Given the description of an element on the screen output the (x, y) to click on. 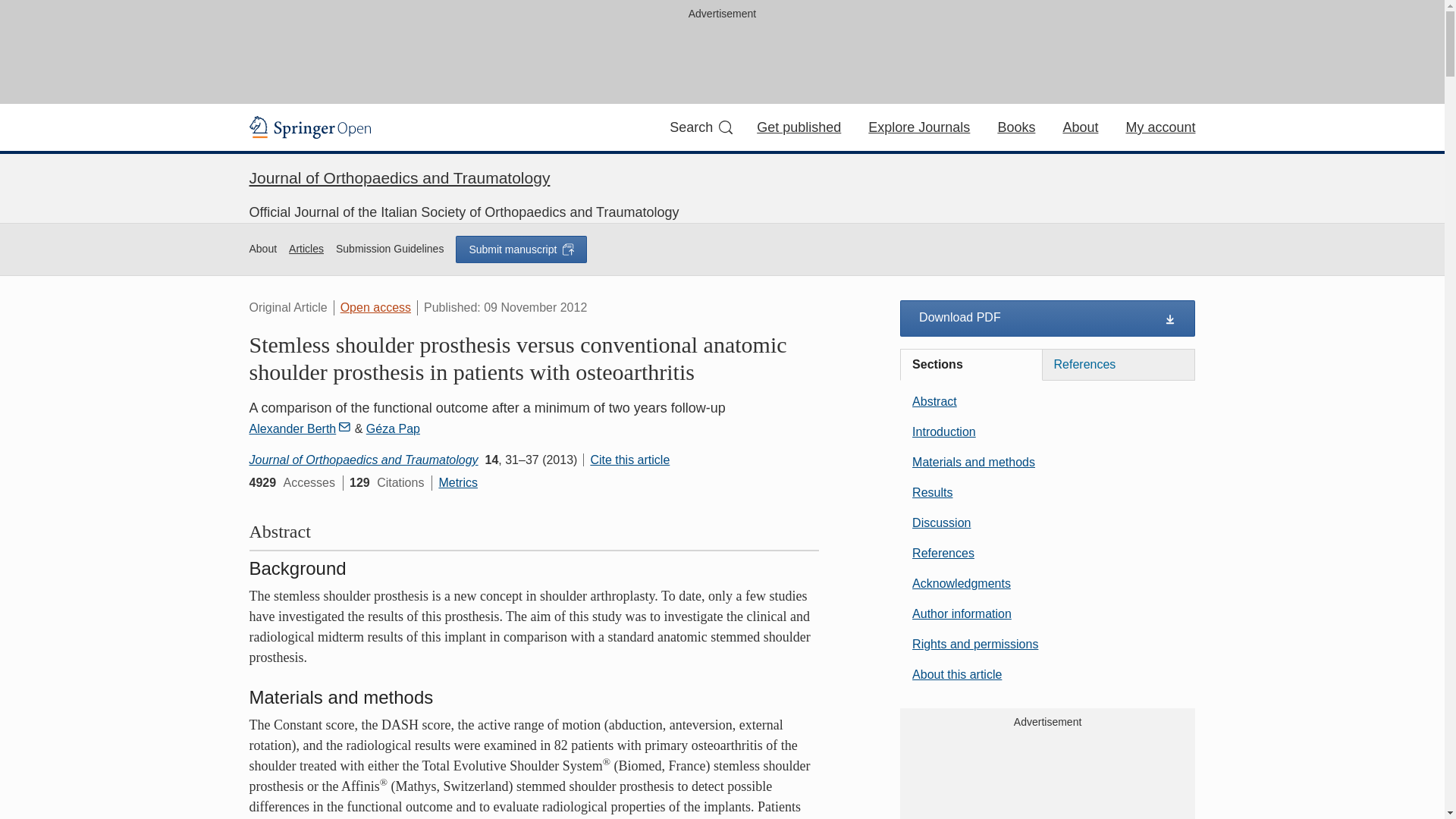
Get published (799, 127)
Metrics (457, 481)
About (262, 248)
Articles (305, 248)
Journal of Orthopaedics and Traumatology (399, 177)
Open access (375, 307)
Books (1016, 127)
Alexander Berth (299, 428)
About (1079, 127)
Journal of Orthopaedics and Traumatology (362, 459)
Submit manuscript (520, 248)
Search (700, 127)
Explore Journals (918, 127)
Submission Guidelines (390, 248)
